Given the description of an element on the screen output the (x, y) to click on. 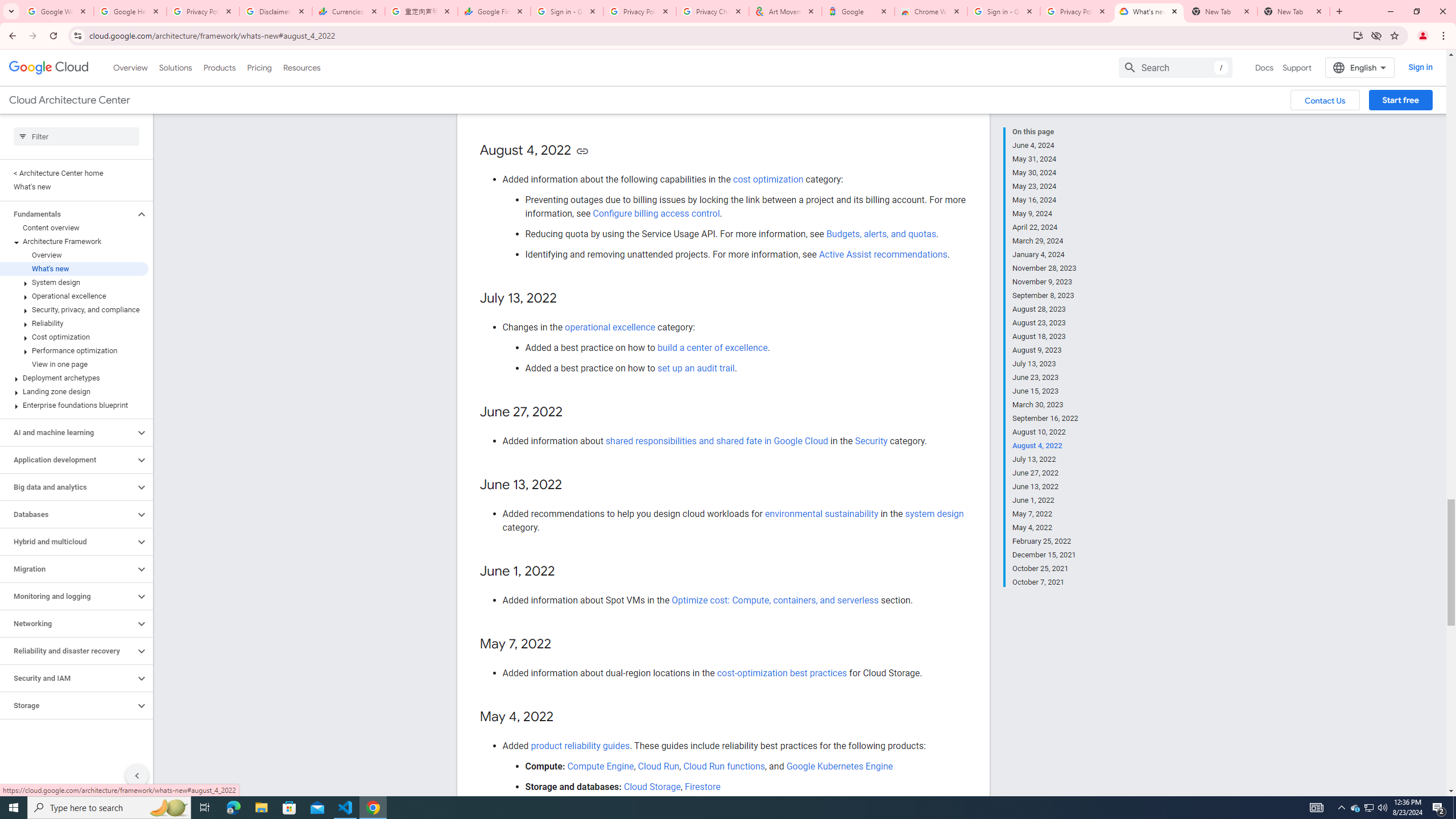
Google Workspace Admin Community (57, 11)
Privacy Checkup (712, 11)
environmental sustainability (821, 513)
August 18, 2023 (1044, 336)
System design (594, 65)
Fundamentals (67, 214)
What's new (74, 269)
set up an audit trail (696, 367)
Security (871, 440)
Budgets, alerts, and quotas (880, 233)
